Given the description of an element on the screen output the (x, y) to click on. 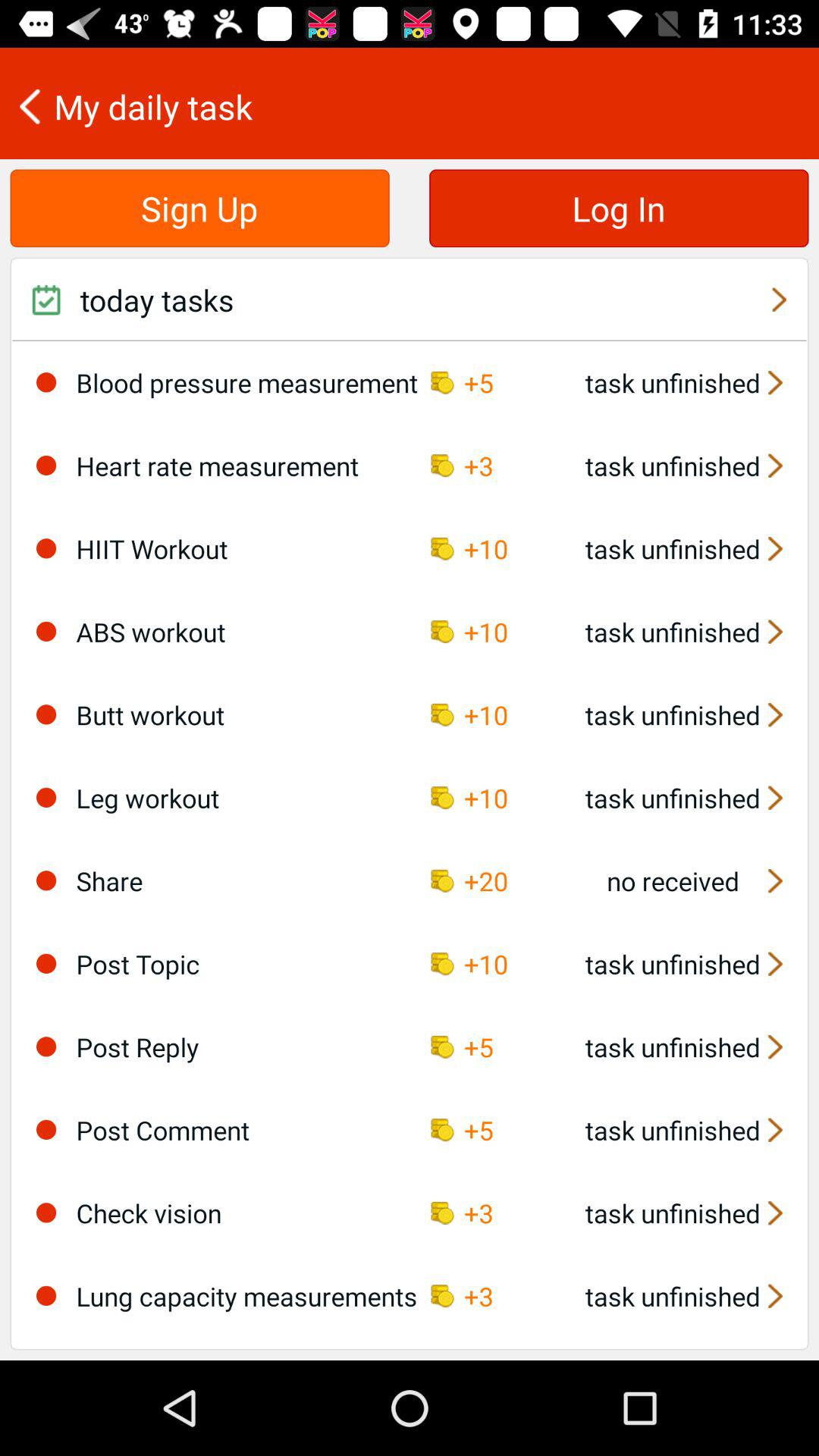
deselect workout (46, 714)
